Given the description of an element on the screen output the (x, y) to click on. 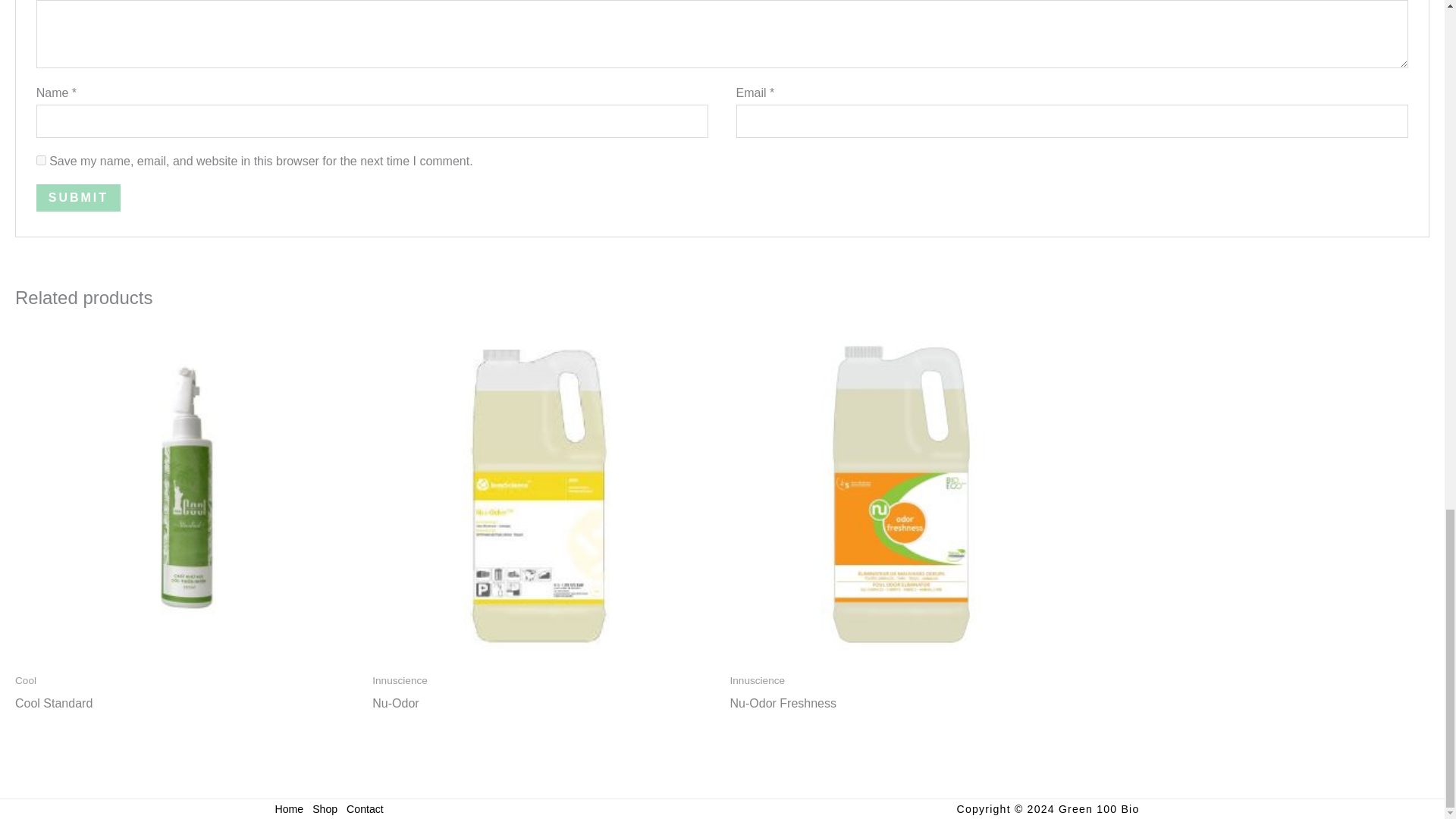
Submit (78, 197)
Cool Standard (53, 707)
Nu-Odor (395, 707)
Nu-Odor Freshness (782, 707)
Submit (78, 197)
yes (41, 160)
